Given the description of an element on the screen output the (x, y) to click on. 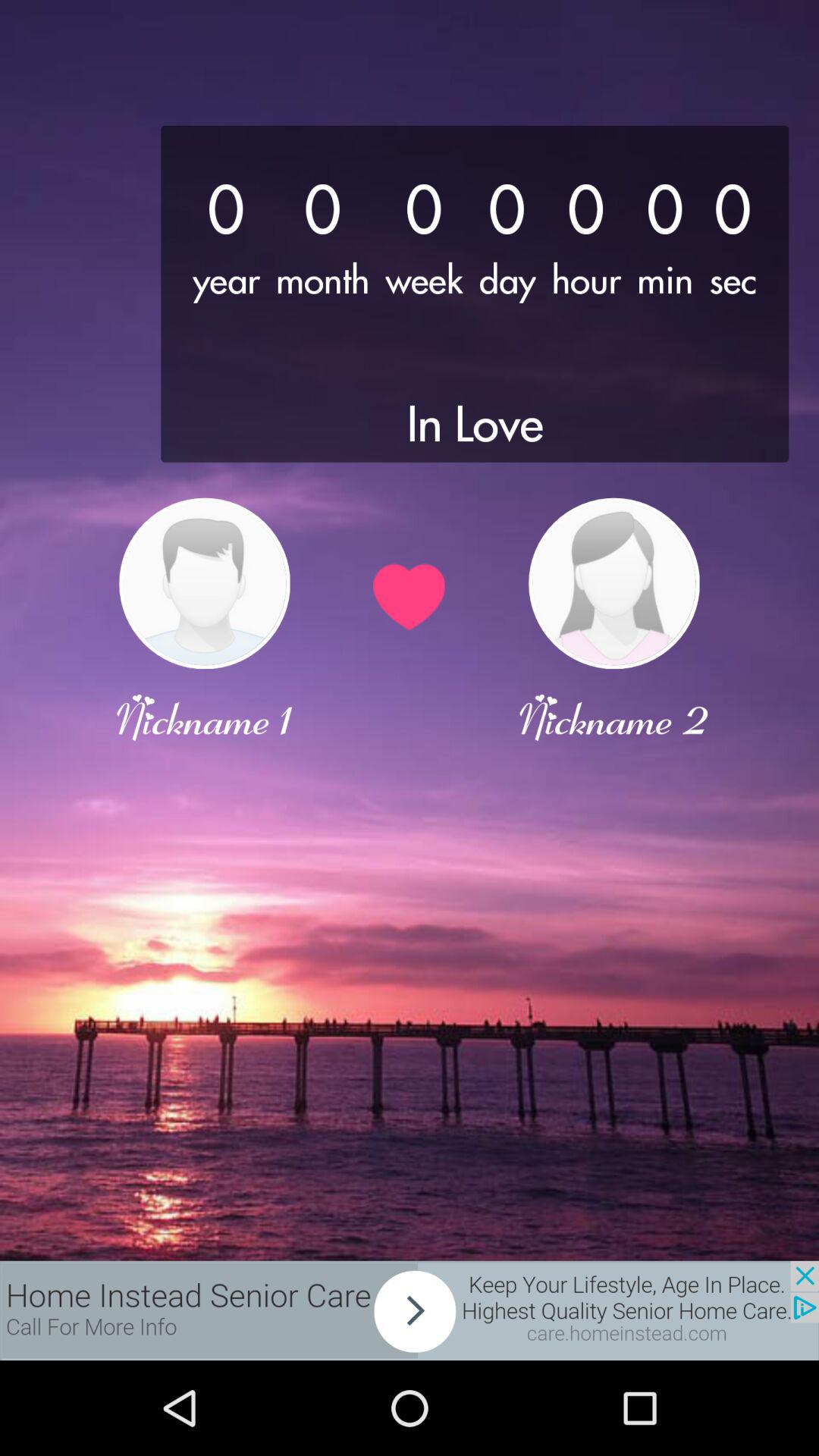
menu button (409, 1310)
